Given the description of an element on the screen output the (x, y) to click on. 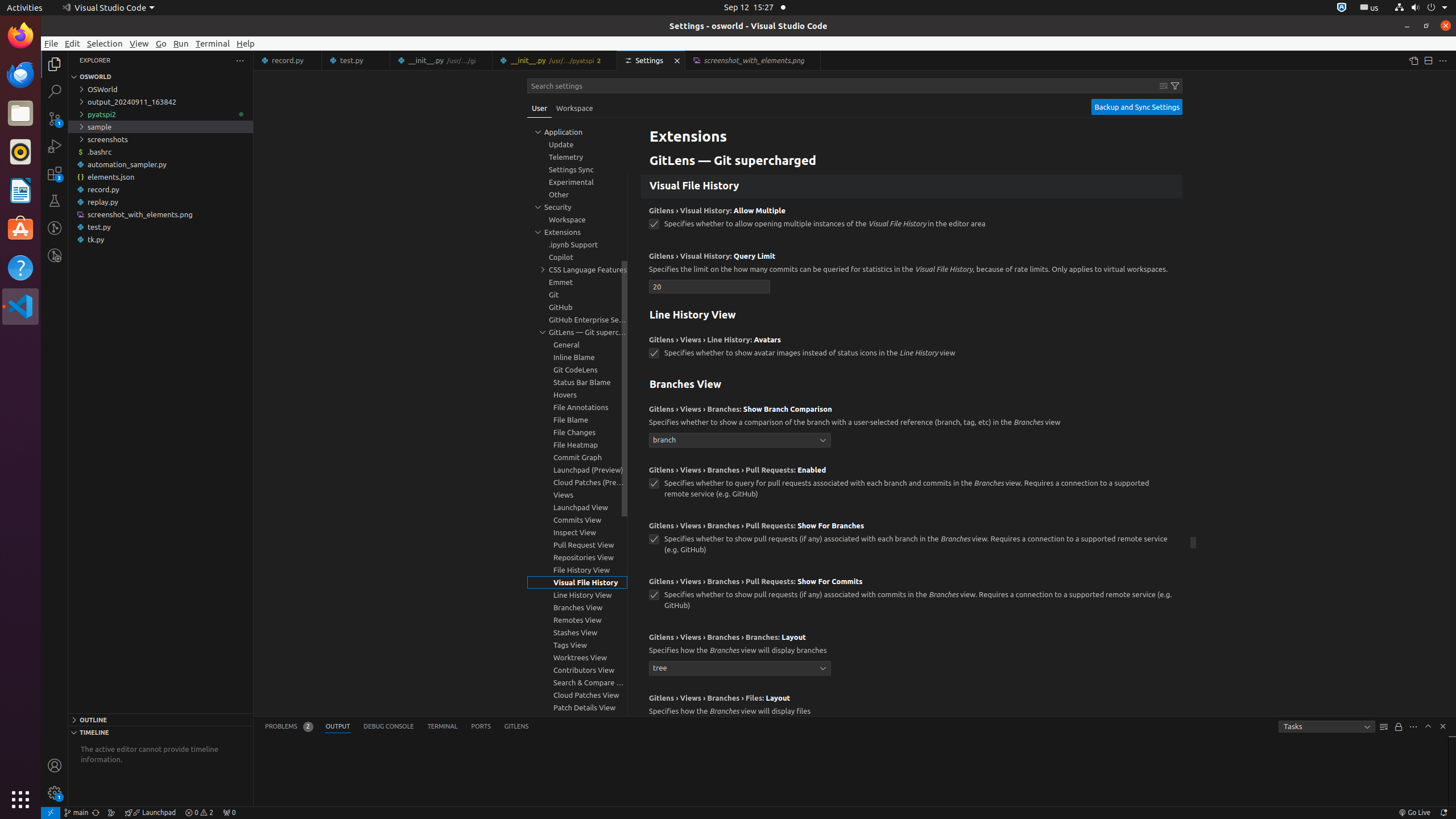
Explorer (Ctrl+Shift+E) Element type: page-tab (54, 63)
File Blame, group Element type: tree-item (577, 419)
More Actions... (Shift+F9) Element type: push-button (634, 696)
sample Element type: tree-item (160, 126)
screenshots Element type: tree-item (160, 139)
